Given the description of an element on the screen output the (x, y) to click on. 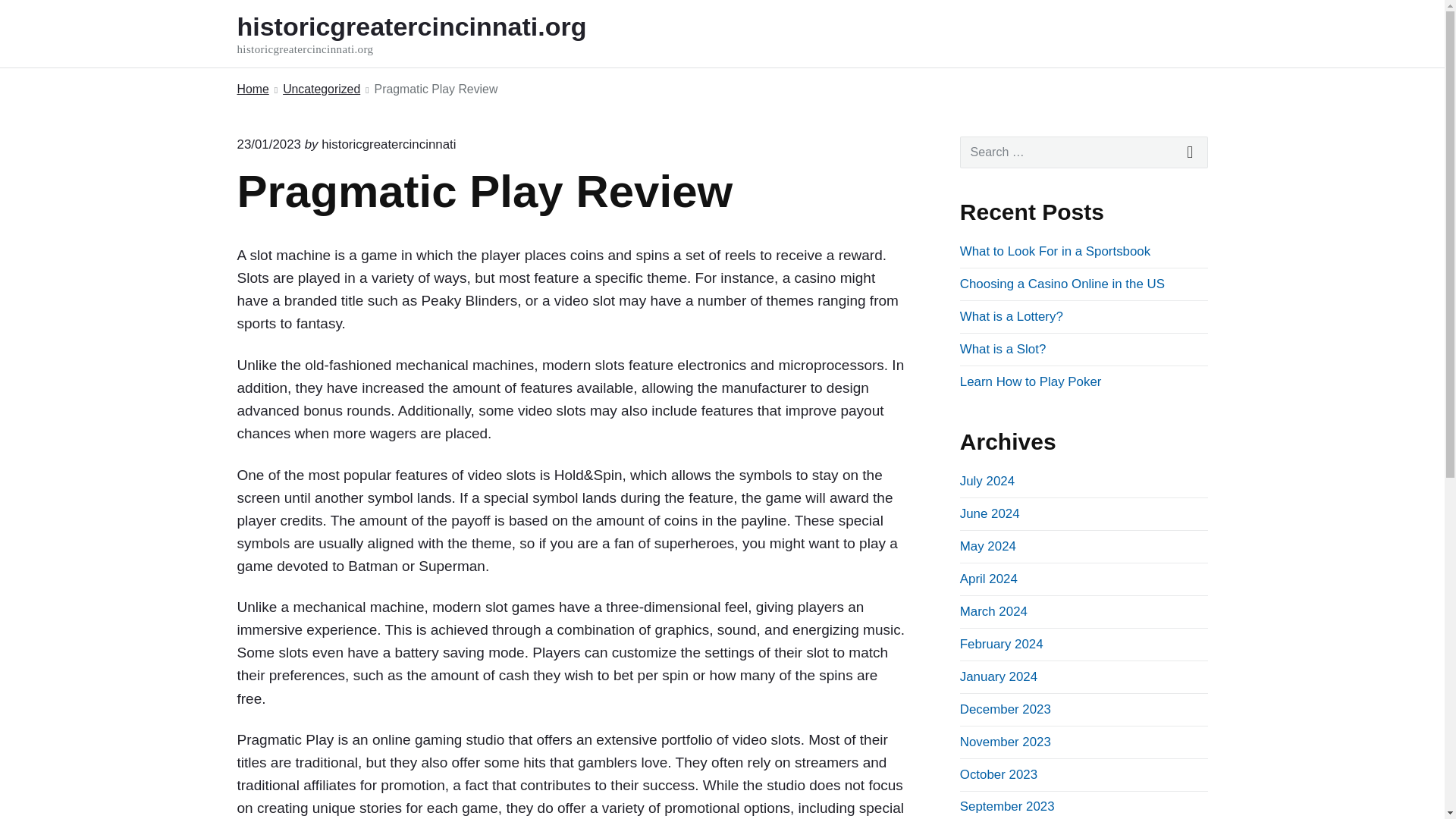
June 2024 (989, 513)
October 2023 (997, 774)
historicgreatercincinnati (431, 33)
Uncategorized (388, 144)
What to Look For in a Sportsbook (320, 89)
Learn How to Play Poker (1054, 251)
February 2024 (1030, 381)
Posts by historicgreatercincinnati (1001, 644)
Search for: (388, 144)
May 2024 (1083, 152)
What is a Lottery? (987, 545)
September 2023 (1010, 316)
January 2024 (1006, 806)
December 2023 (997, 676)
